Given the description of an element on the screen output the (x, y) to click on. 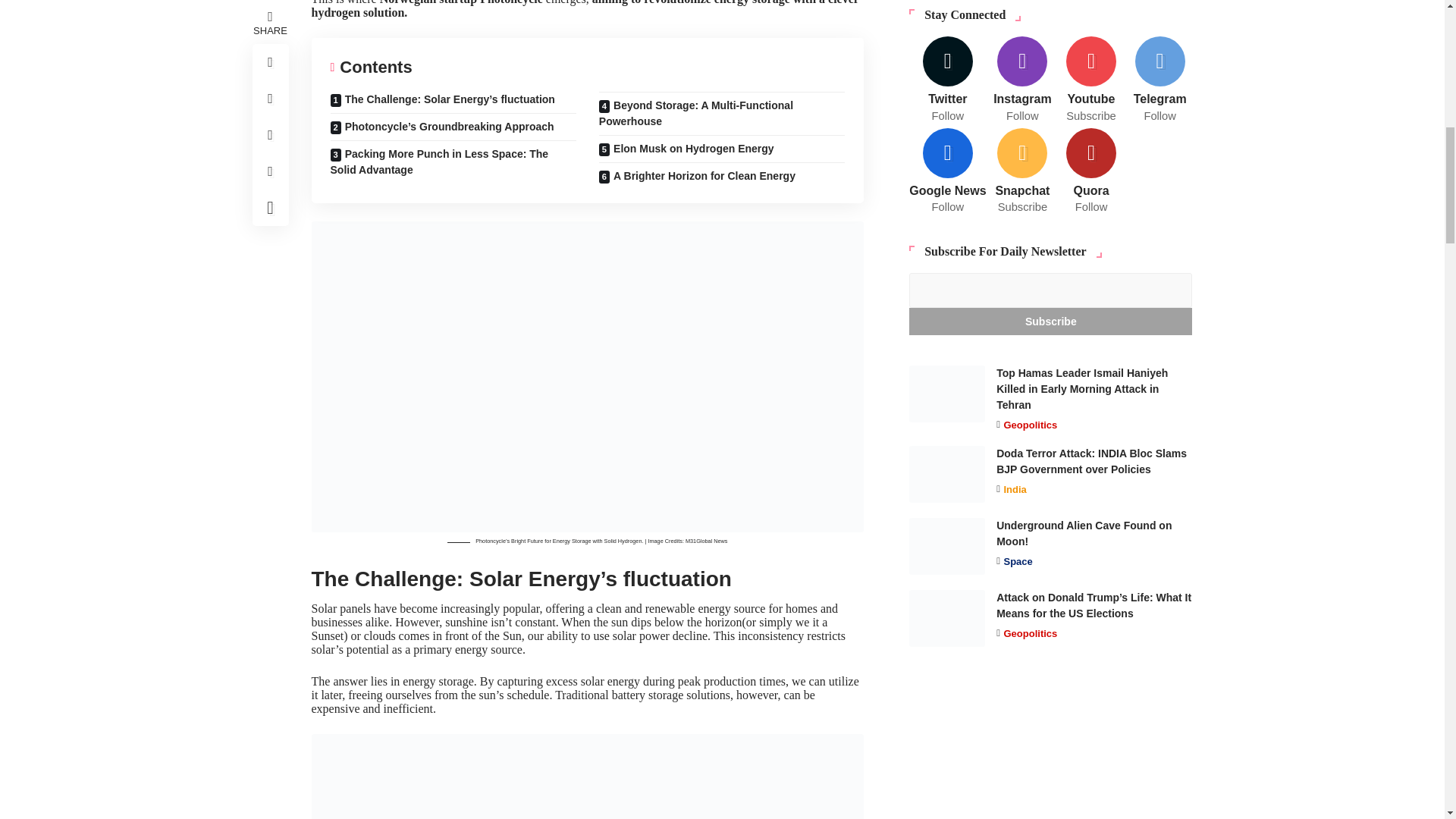
Underground Alien Cave Found on Moon! (946, 515)
Subscribe (1050, 290)
